Given the description of an element on the screen output the (x, y) to click on. 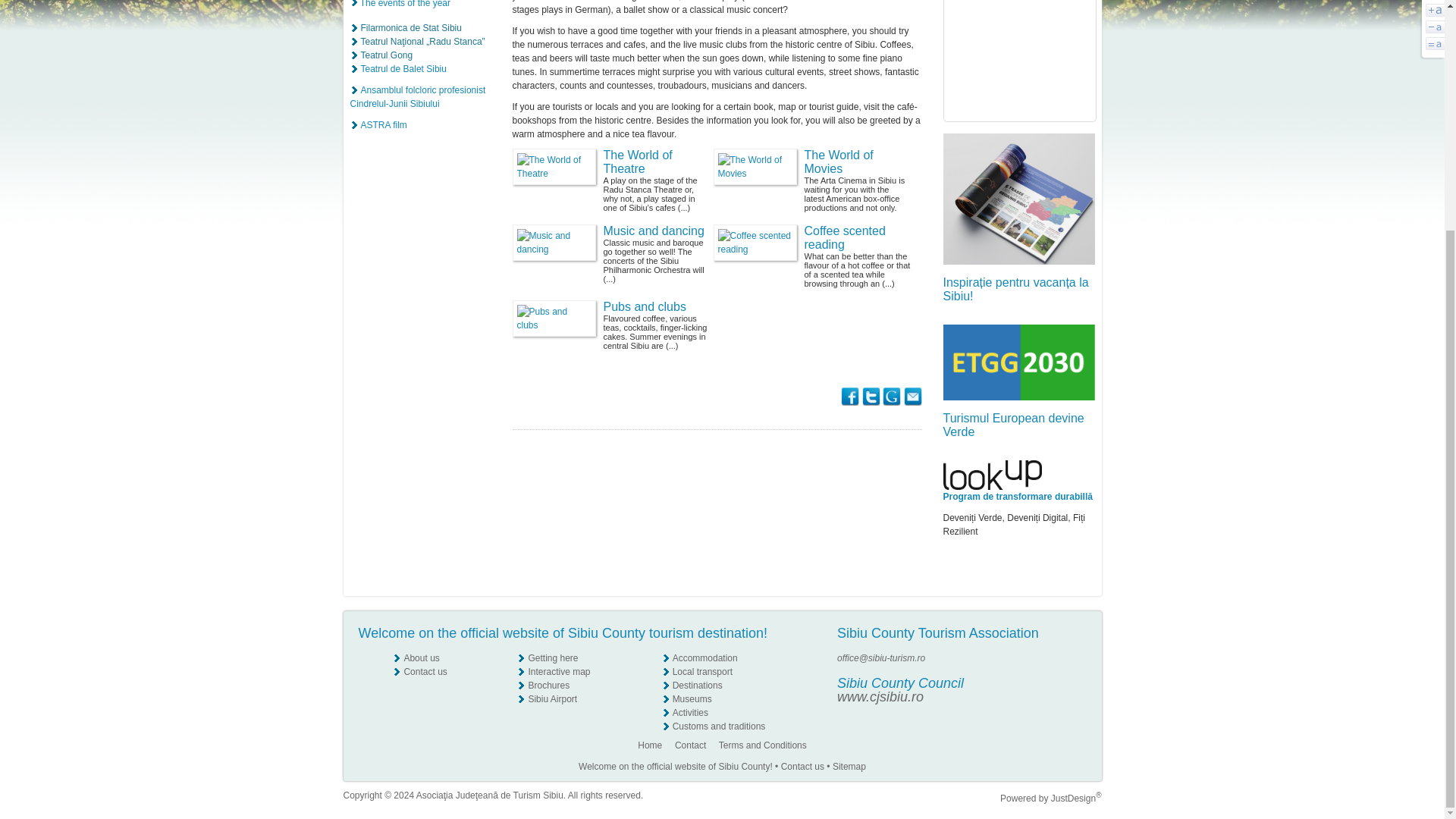
Twitter (1077, 685)
Facebook (1077, 657)
Flickr (1077, 671)
You Tube (1076, 698)
Sibiu tourism (1018, 198)
